Given the description of an element on the screen output the (x, y) to click on. 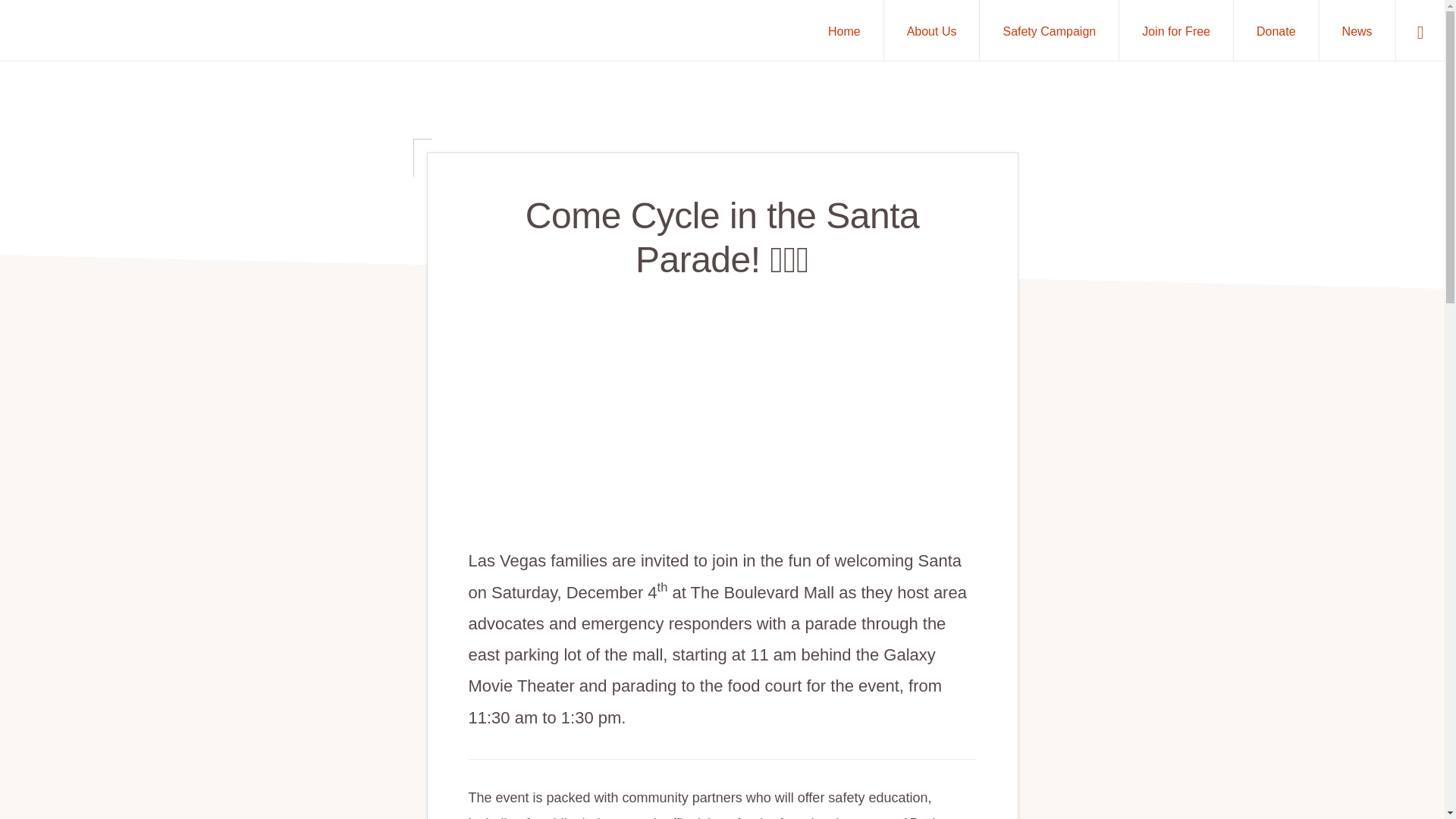
News (1356, 30)
About Us (931, 30)
Donate (1276, 30)
Safety Campaign (1048, 30)
Southern Nevada Bicycle Coalition (421, 733)
CONTACT US (367, 775)
Website Developers (550, 733)
Join for Free (1176, 30)
Home (844, 30)
